Given the description of an element on the screen output the (x, y) to click on. 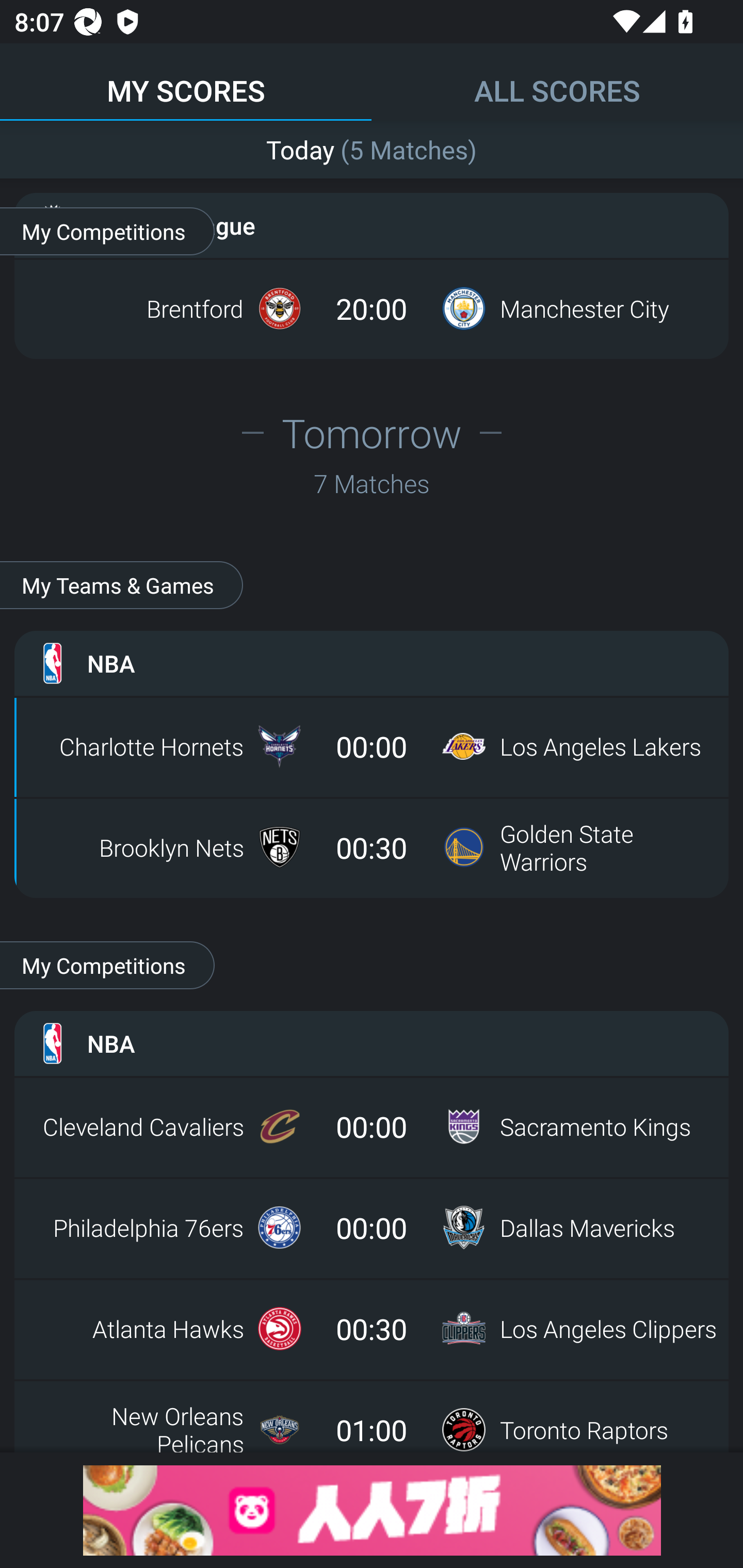
MY SCORES (185, 81)
ALL SCORES (557, 81)
Denver Nuggets 112 - 103 Portland Trail Blazers (371, 145)
Premier League (371, 224)
Brentford 20:00 Manchester City (371, 308)
NBA (371, 663)
Charlotte Hornets 00:00 Los Angeles Lakers (371, 746)
Brooklyn Nets 00:30 Golden State Warriors (371, 847)
NBA (371, 1043)
Cleveland Cavaliers 00:00 Sacramento Kings (371, 1126)
Philadelphia 76ers 00:00 Dallas Mavericks (371, 1227)
Atlanta Hawks 00:30 Los Angeles Clippers (371, 1328)
New Orleans Pelicans 01:00 Toronto Raptors (371, 1420)
Advertisement (371, 1509)
